Given the description of an element on the screen output the (x, y) to click on. 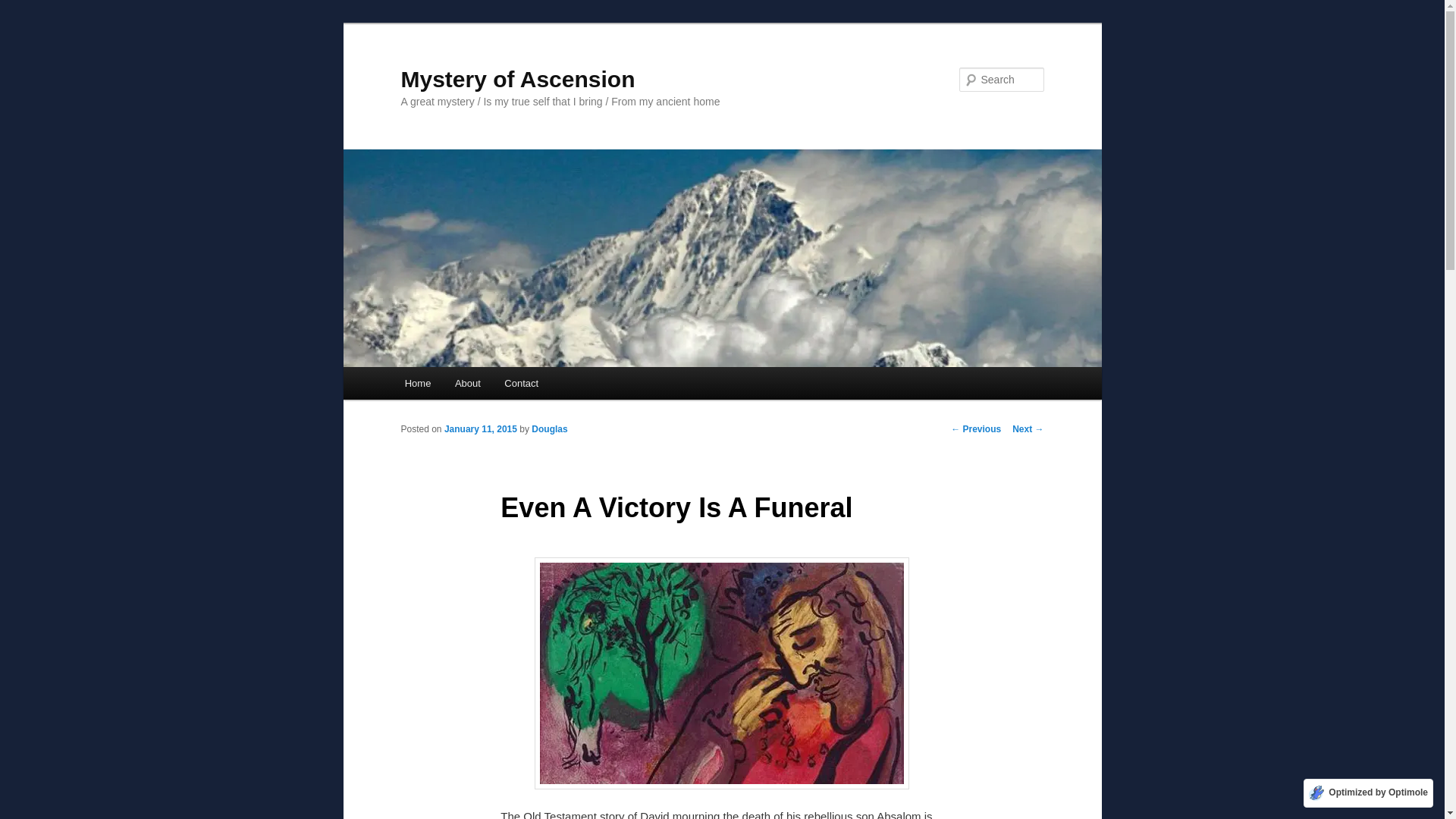
Optimized by Optimole (1367, 792)
Contact (521, 382)
About (467, 382)
5:10 PM (480, 429)
January 11, 2015 (480, 429)
Home (417, 382)
Douglas (549, 429)
Search (24, 8)
Mystery of Ascension (517, 78)
